Given the description of an element on the screen output the (x, y) to click on. 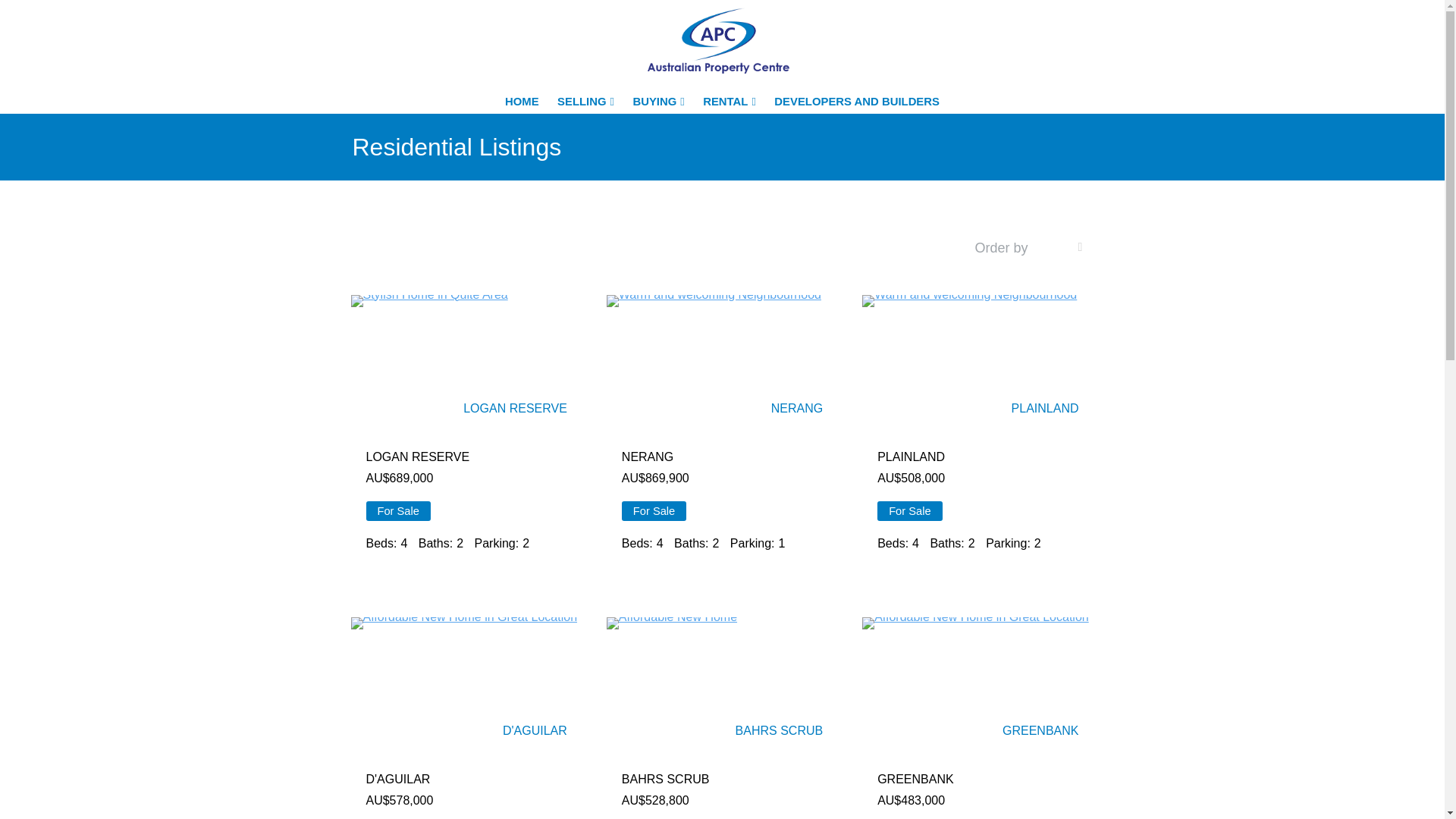
HOME Element type: text (525, 101)
D'AGUILAR Element type: text (534, 730)
BAHRS SCRUB Element type: text (779, 730)
BUYING Element type: text (657, 101)
GREENBANK Element type: text (1040, 730)
LOGAN RESERVE Element type: text (515, 407)
SELLING Element type: text (585, 101)
PLAINLAND Element type: text (1045, 407)
NERANG Element type: text (796, 407)
RENTAL Element type: text (729, 101)
DEVELOPERS AND BUILDERS Element type: text (852, 101)
